Given the description of an element on the screen output the (x, y) to click on. 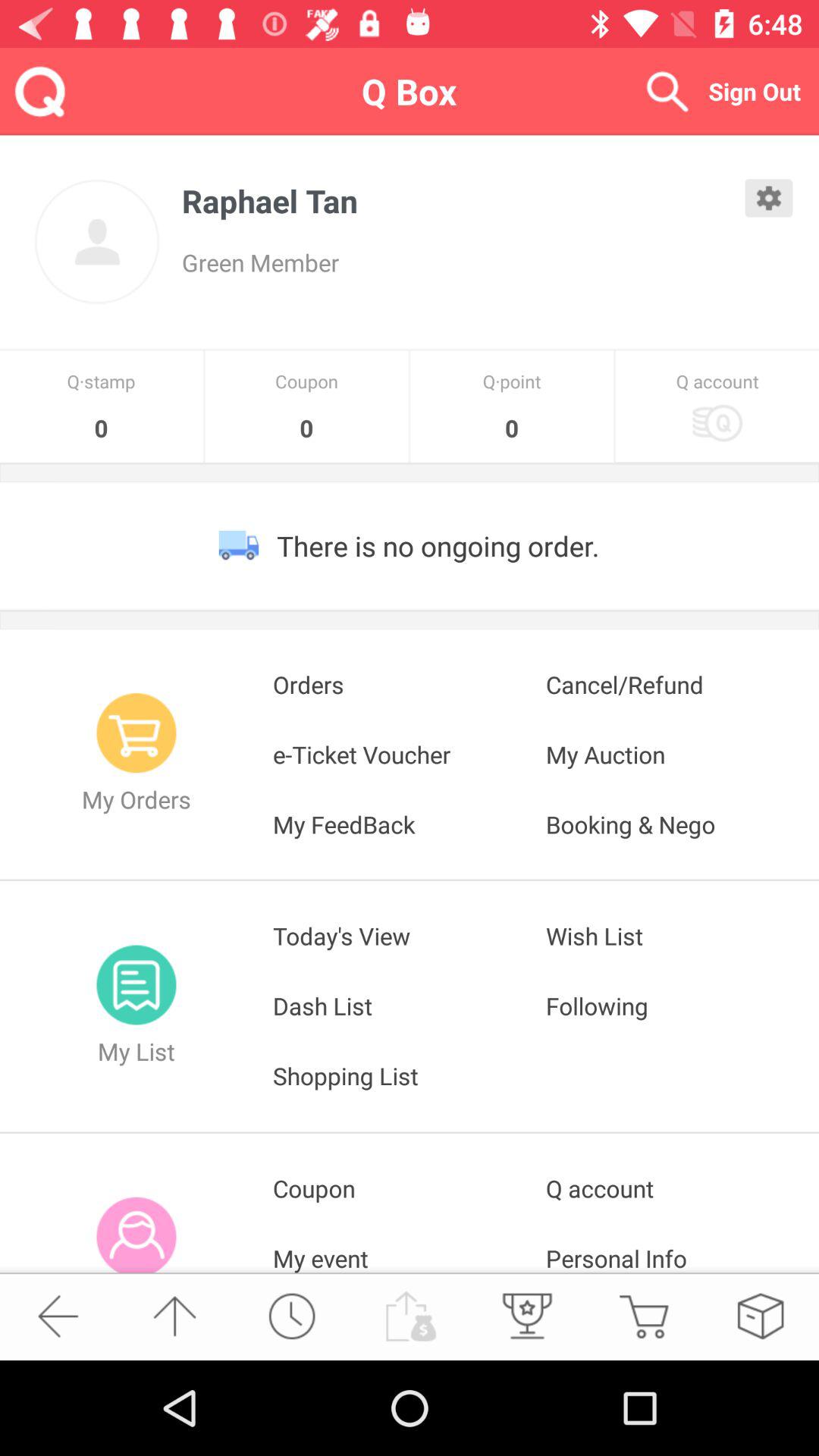
the button is used to check my account balance (408, 1316)
